Given the description of an element on the screen output the (x, y) to click on. 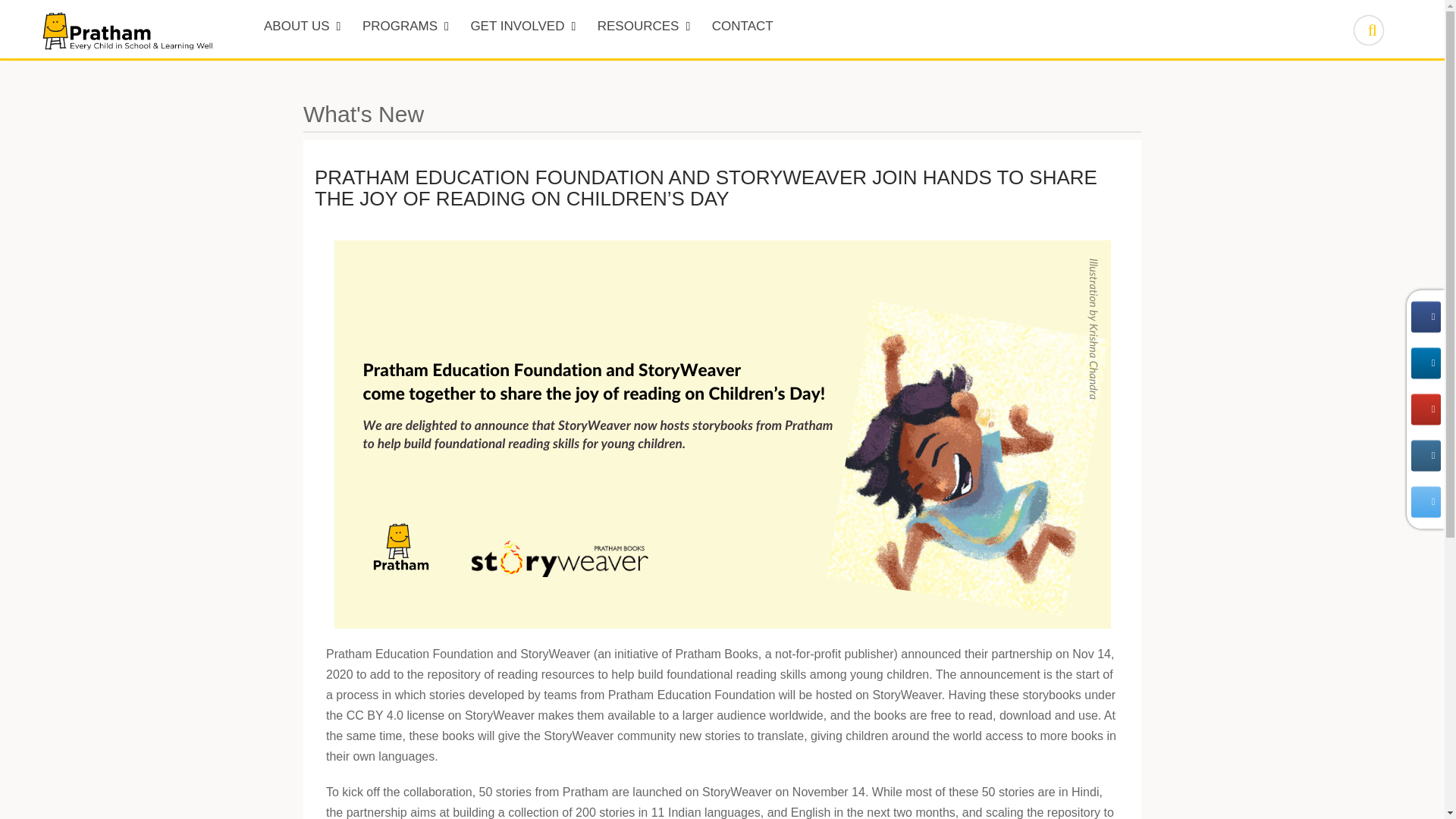
What's New (362, 113)
GET INVOLVED (523, 29)
Pratham on Instagram (1424, 454)
CONTACT (743, 29)
Pratham on Youtube (1424, 409)
Twitter (1424, 501)
PROGRAMS (405, 29)
Pratham on Facebook (1424, 317)
ABOUT US (301, 29)
RESOURCES (644, 29)
